Given the description of an element on the screen output the (x, y) to click on. 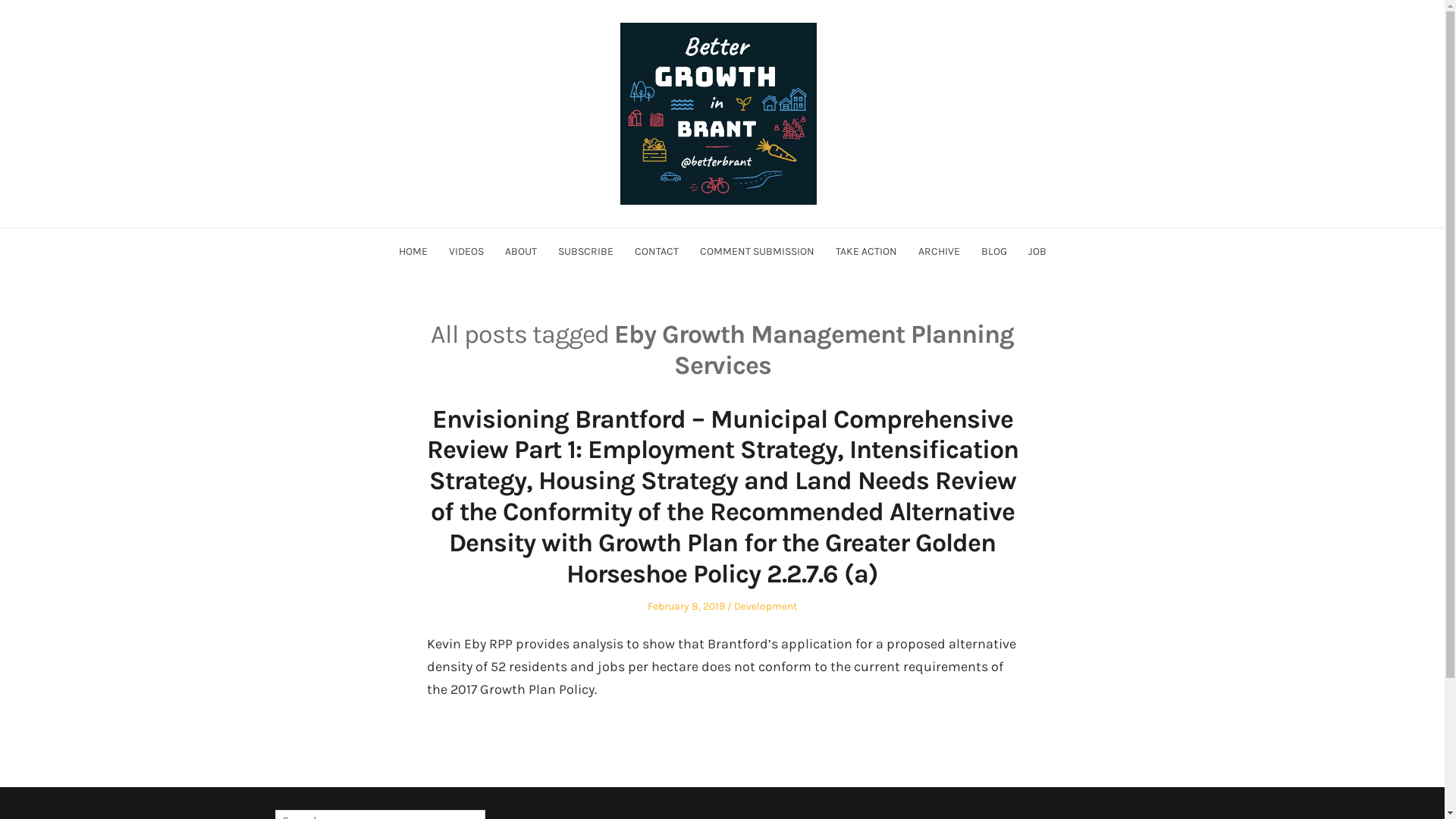
HOME Element type: text (412, 250)
Better Brant Element type: text (308, 234)
February 8, 2019 Element type: text (685, 605)
VIDEOS Element type: text (465, 250)
JOB Element type: text (1037, 250)
COMMENT SUBMISSION Element type: text (756, 250)
ABOUT Element type: text (520, 250)
SUBSCRIBE Element type: text (585, 250)
ARCHIVE Element type: text (938, 250)
Development Element type: text (765, 605)
TAKE ACTION Element type: text (866, 250)
CONTACT Element type: text (655, 250)
BLOG Element type: text (994, 250)
